Given the description of an element on the screen output the (x, y) to click on. 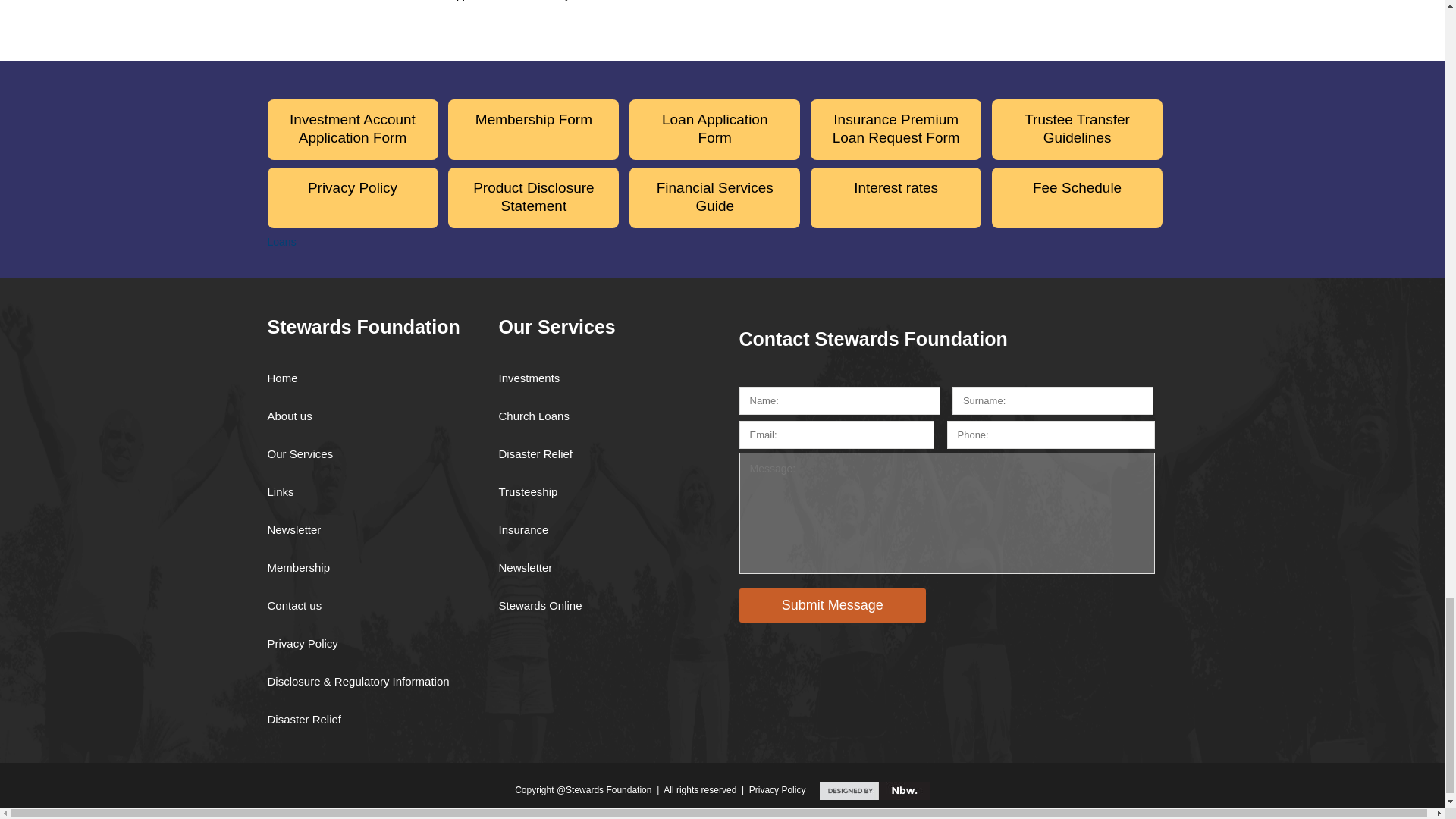
Loan Application Form (713, 129)
Membership Form (533, 129)
Investment Account Application Form (352, 129)
Submit Message (832, 605)
